Given the description of an element on the screen output the (x, y) to click on. 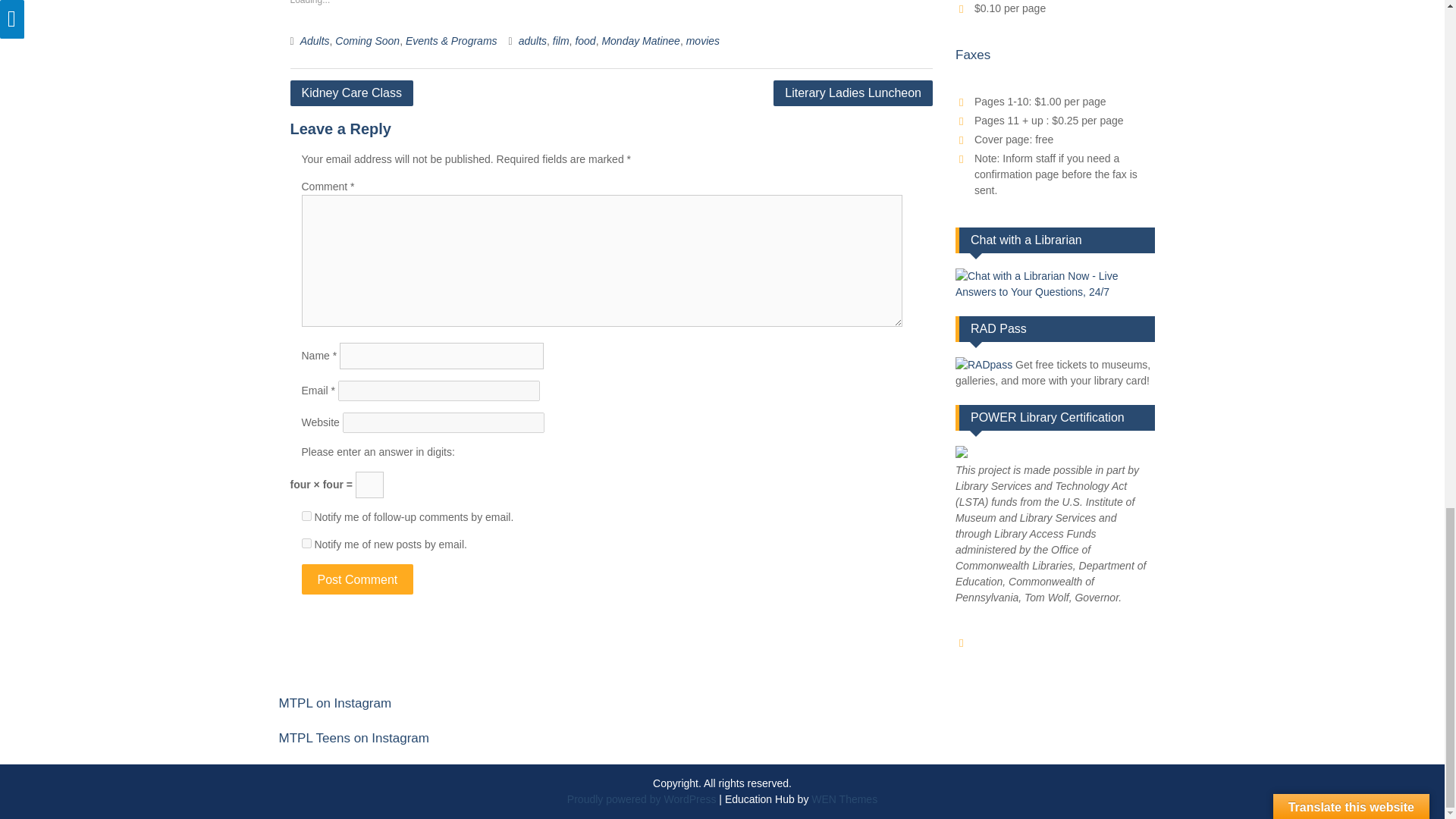
Adults (314, 40)
Coming Soon (366, 40)
Post Comment (357, 579)
film (561, 40)
movies (702, 40)
adults (532, 40)
Monday Matinee (640, 40)
Kidney Care Class (351, 93)
food (585, 40)
Literary Ladies Luncheon (853, 93)
